Given the description of an element on the screen output the (x, y) to click on. 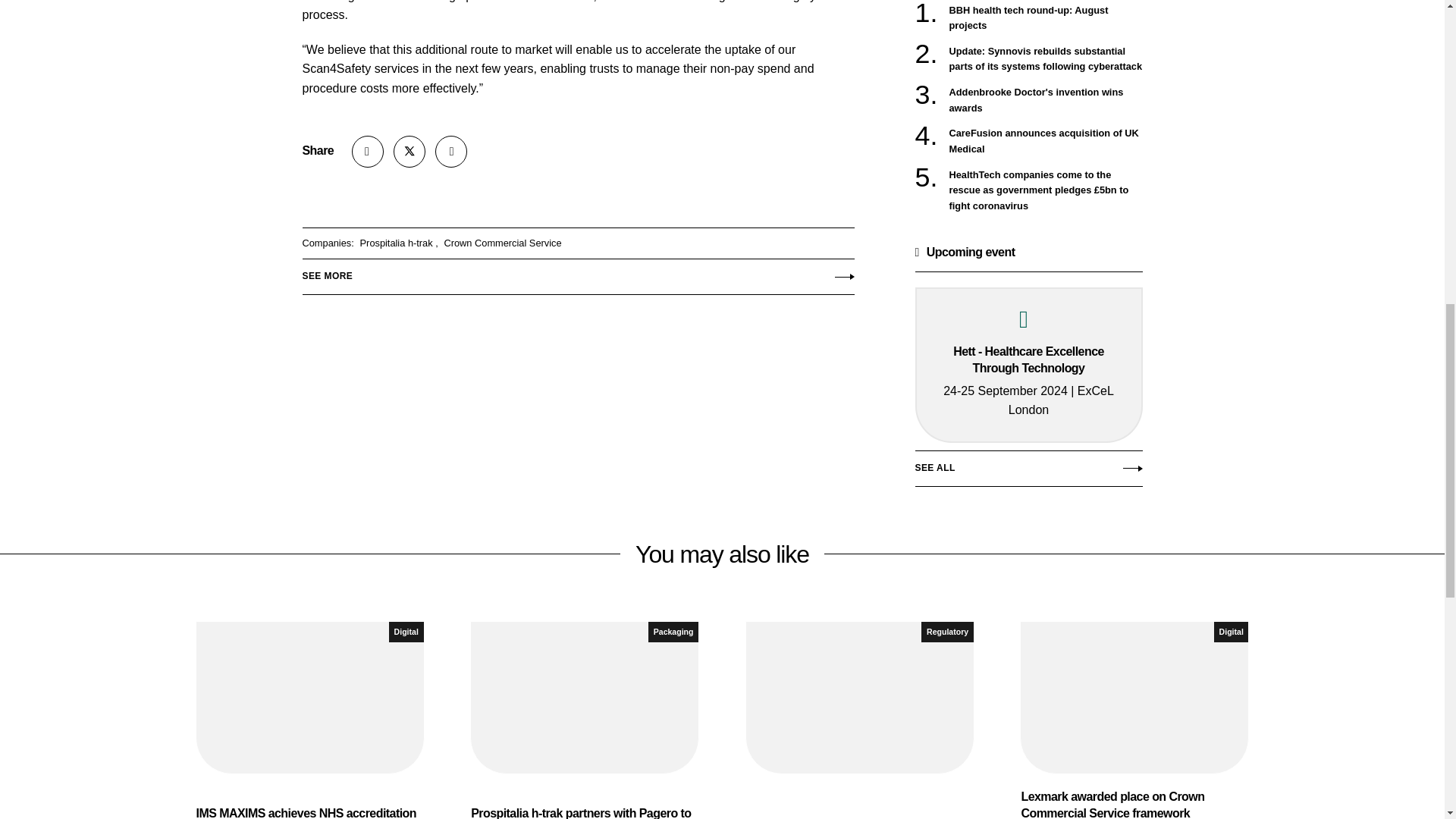
X (409, 151)
CareFusion announces acquisition of UK Medical (1045, 141)
Share (368, 151)
BBH health tech round-up: August projects (1045, 18)
Follow Building Better Healthcare on LinkedIn (451, 151)
Addenbrooke Doctor's invention wins awards (1045, 100)
SEE MORE (577, 272)
Share this article (368, 151)
LinkedIn (451, 151)
